Given the description of an element on the screen output the (x, y) to click on. 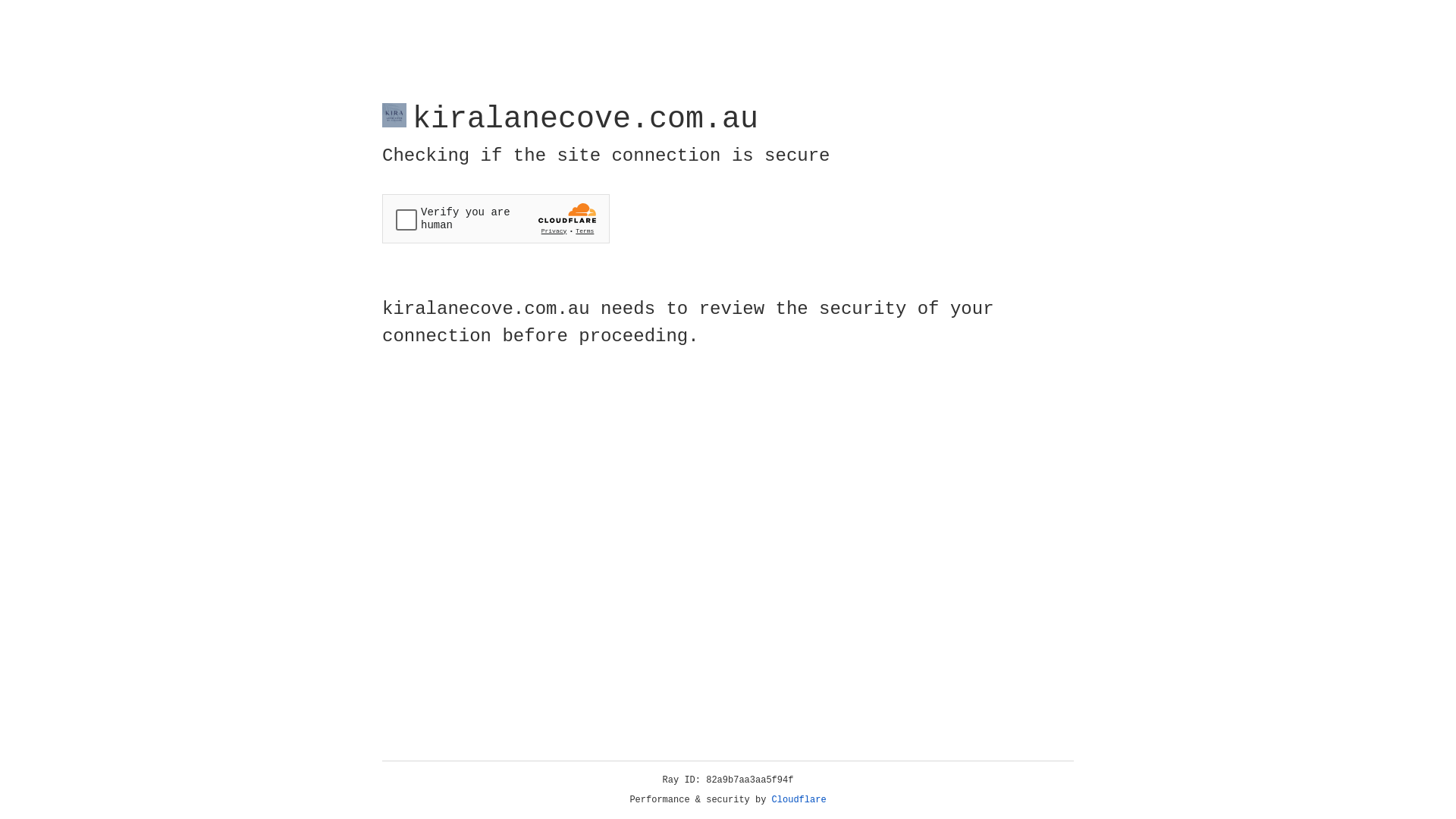
Widget containing a Cloudflare security challenge Element type: hover (495, 218)
Cloudflare Element type: text (798, 799)
